Given the description of an element on the screen output the (x, y) to click on. 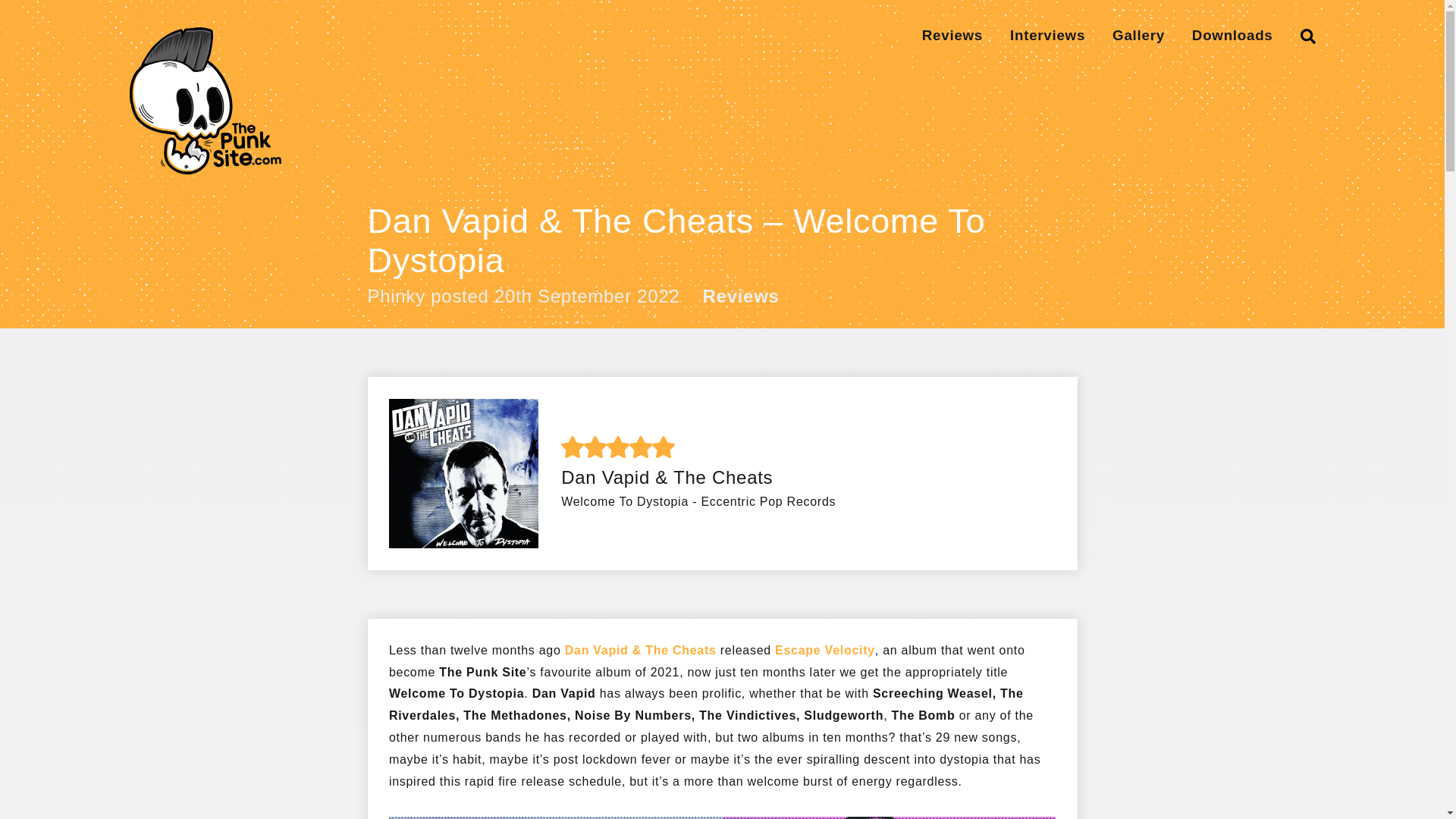
Gallery (1138, 35)
Reviews (951, 35)
Escape Velocity (824, 651)
Reviews (740, 296)
ThePunkSite.com home (205, 100)
Downloads (1232, 35)
Interviews (1047, 35)
